Given the description of an element on the screen output the (x, y) to click on. 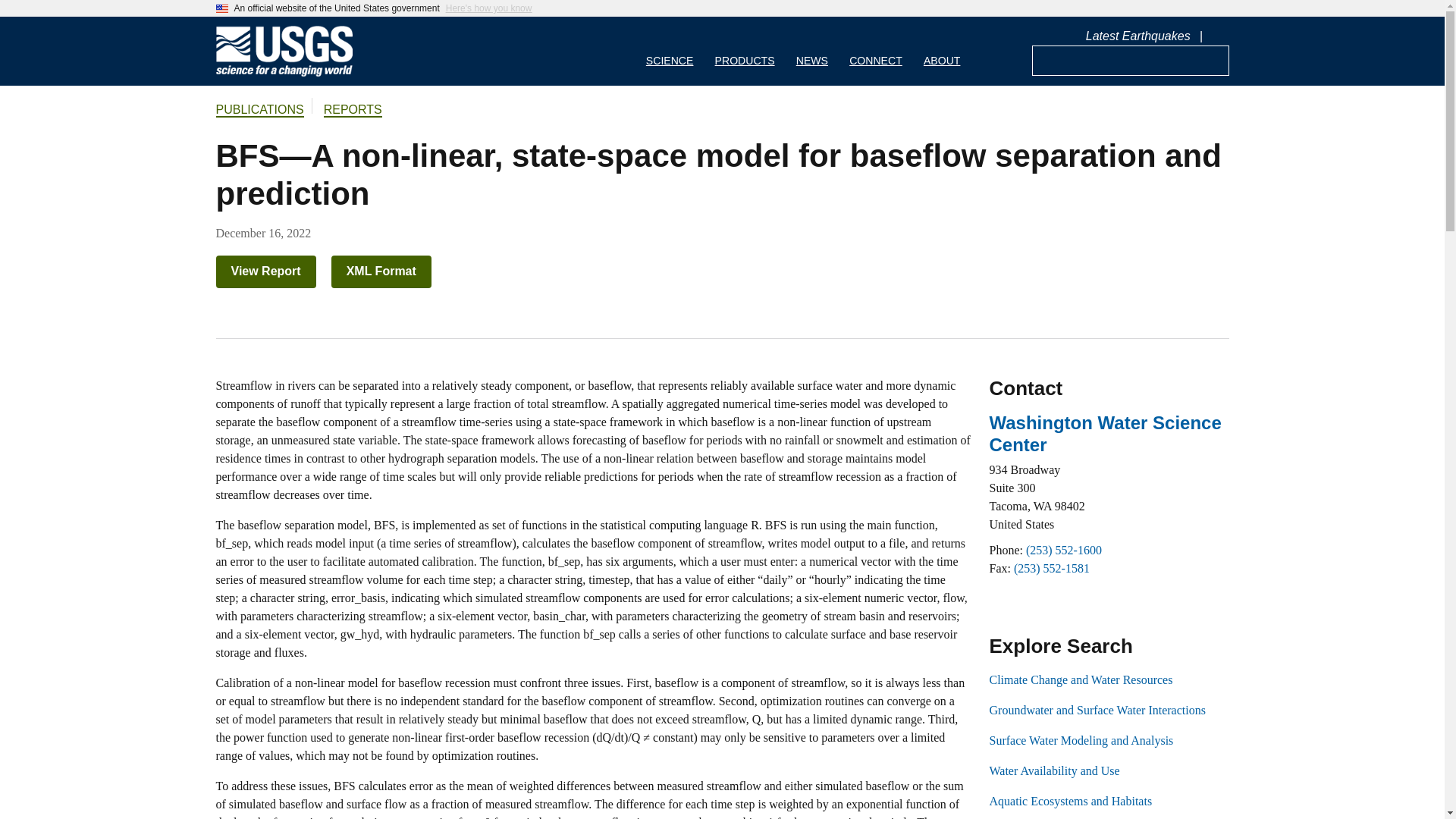
PUBLICATIONS (258, 110)
SCIENCE (669, 50)
Home (283, 72)
Latest Earthquakes (1138, 35)
Here's how you know (488, 8)
View Report (265, 271)
REPORTS (352, 110)
ABOUT (941, 50)
CONNECT (875, 50)
XML Format (380, 271)
